Given the description of an element on the screen output the (x, y) to click on. 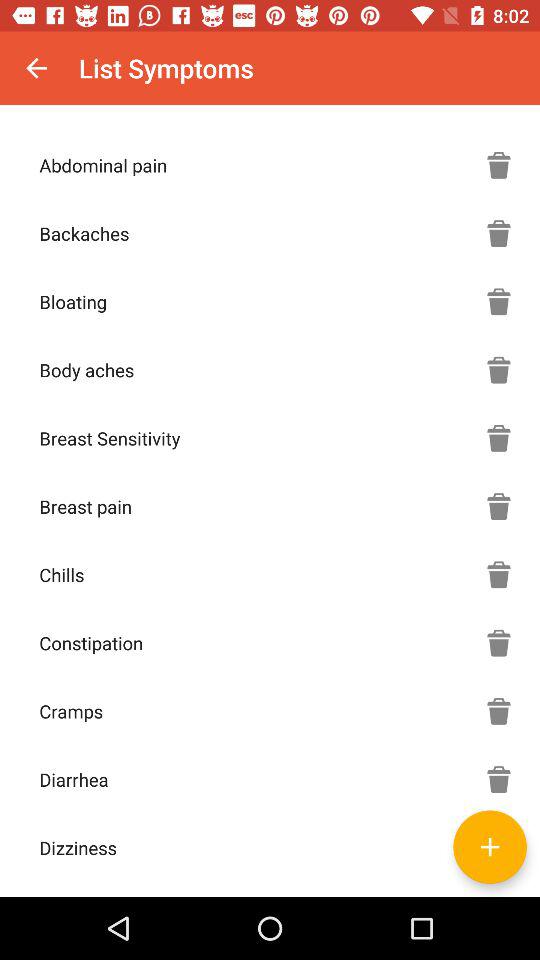
delete body aches symptom (499, 370)
